Given the description of an element on the screen output the (x, y) to click on. 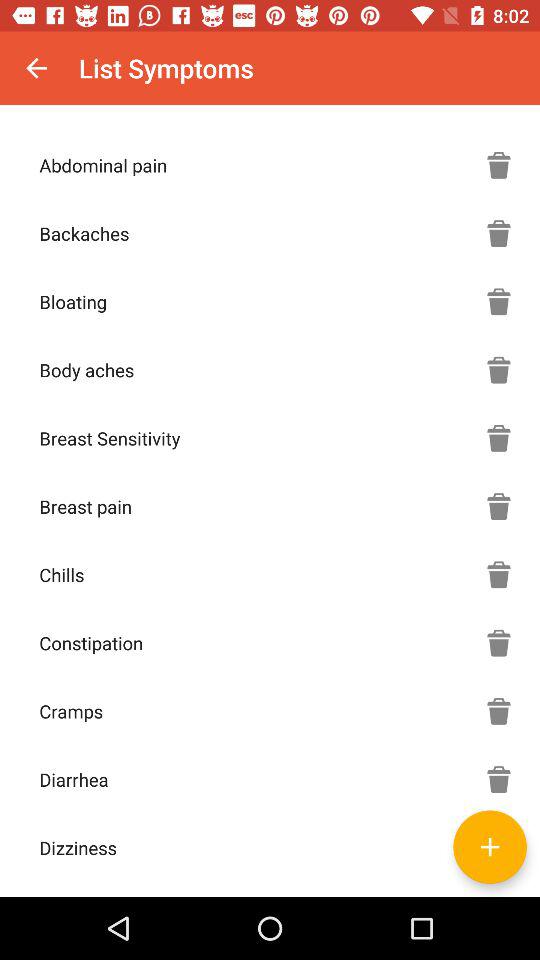
delete body aches symptom (499, 370)
